Given the description of an element on the screen output the (x, y) to click on. 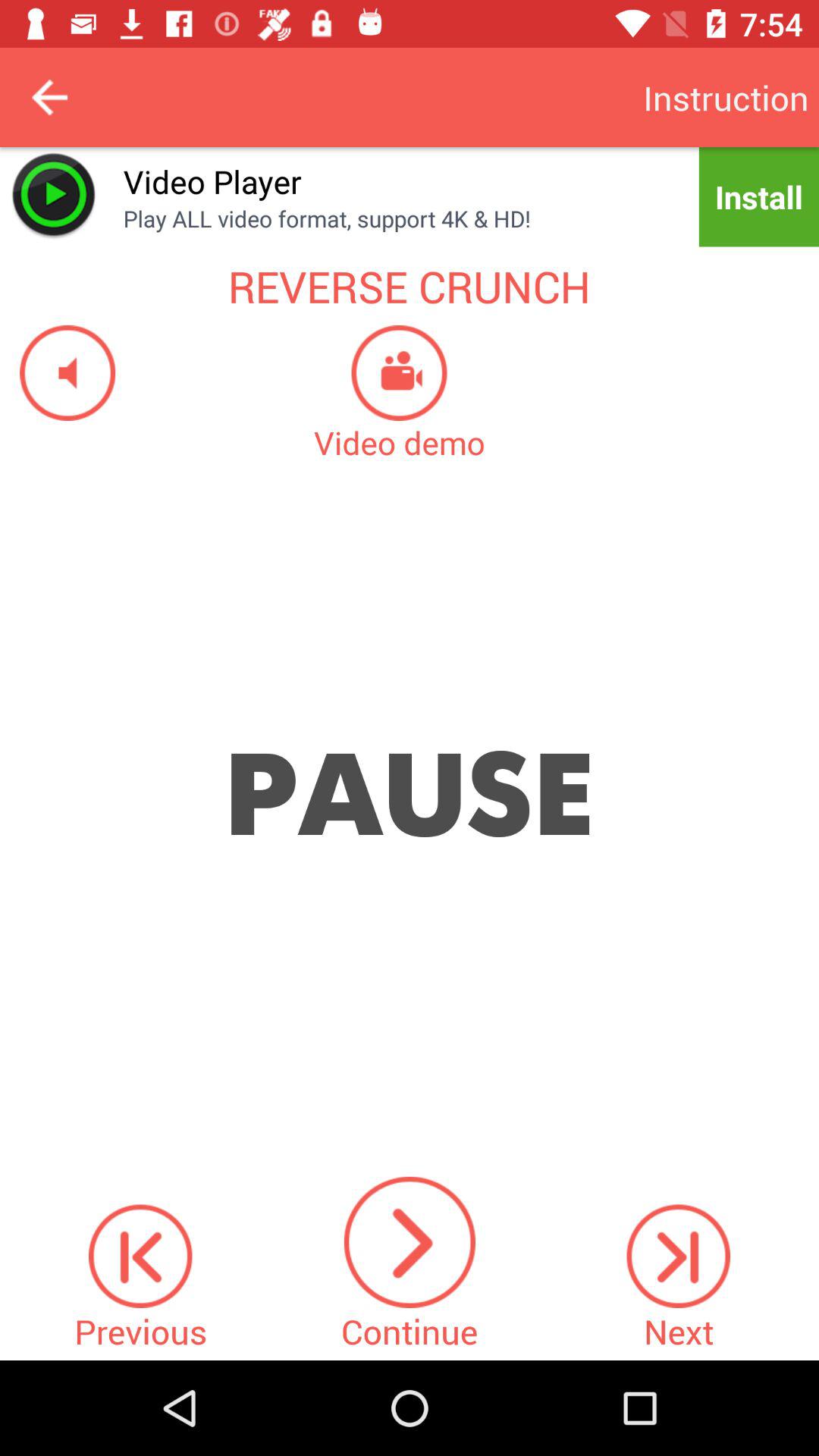
adjust sound (57, 372)
